Given the description of an element on the screen output the (x, y) to click on. 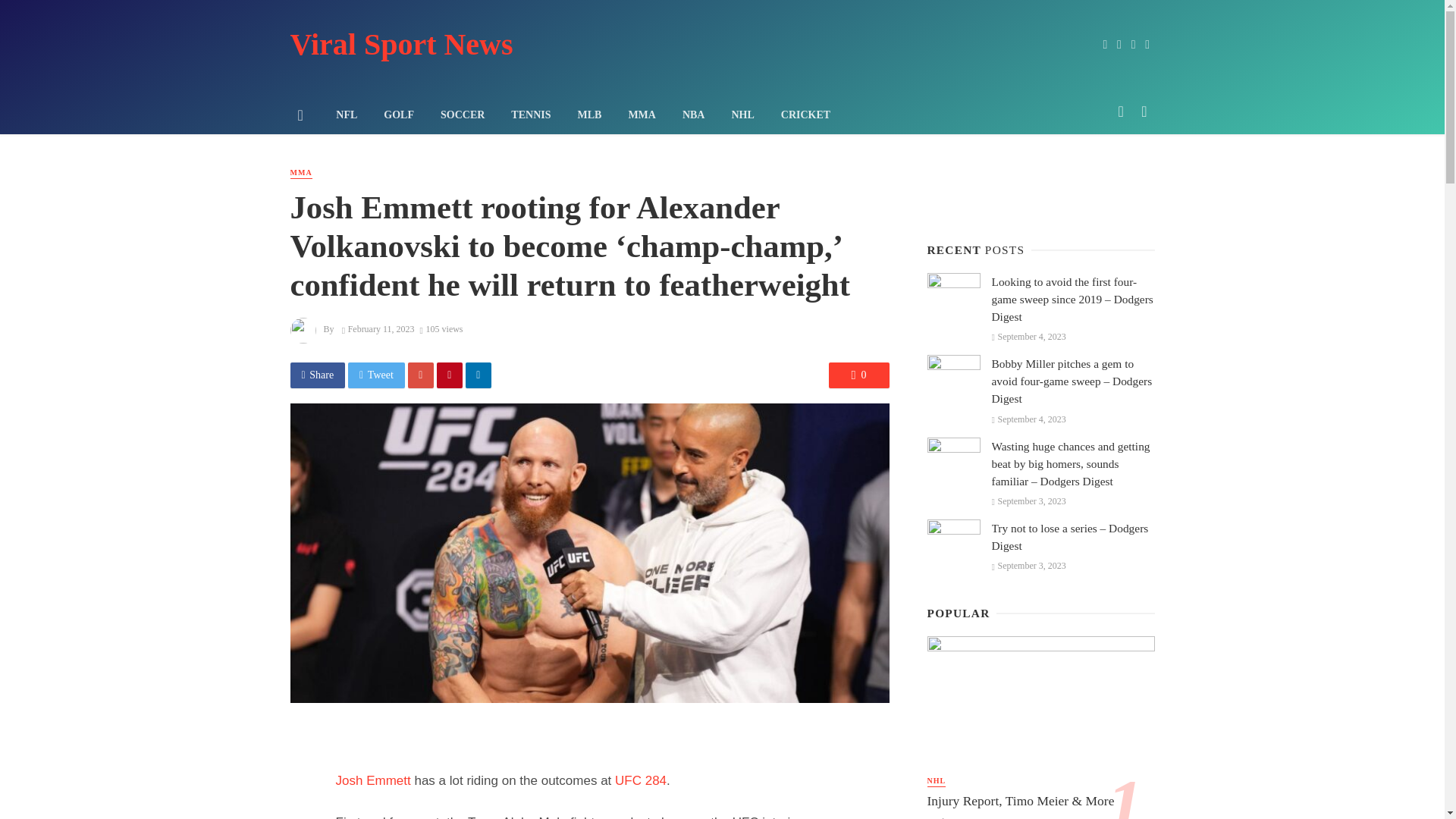
CRICKET (805, 115)
NFL (347, 115)
TENNIS (530, 115)
SOCCER (461, 115)
Josh Emmett (372, 780)
Share on Facebook (317, 375)
Share on Pinterest (449, 375)
UFC 284 (640, 780)
Tweet (375, 375)
MMA (300, 173)
